Given the description of an element on the screen output the (x, y) to click on. 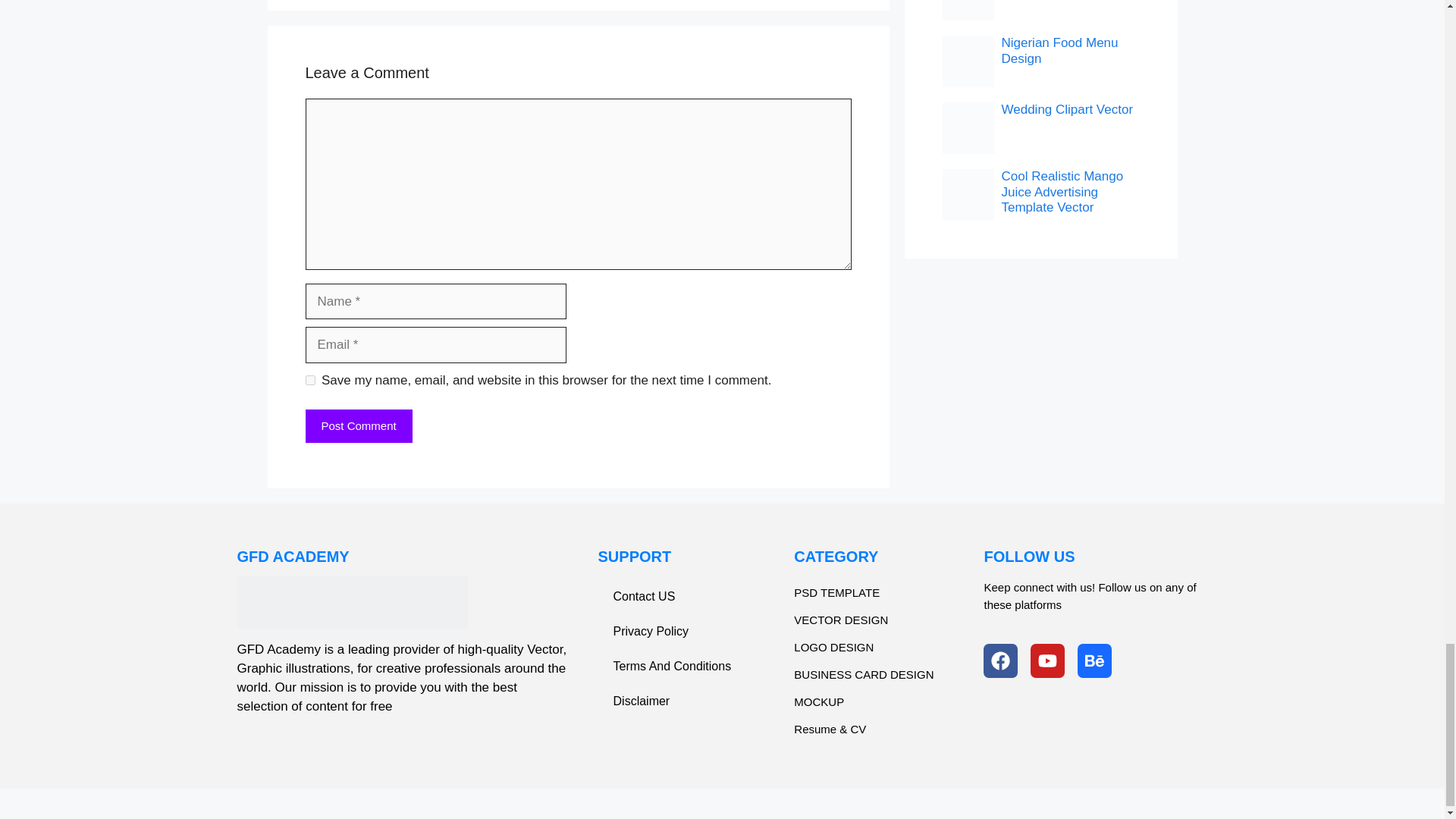
yes (309, 379)
Post Comment (358, 426)
